Given the description of an element on the screen output the (x, y) to click on. 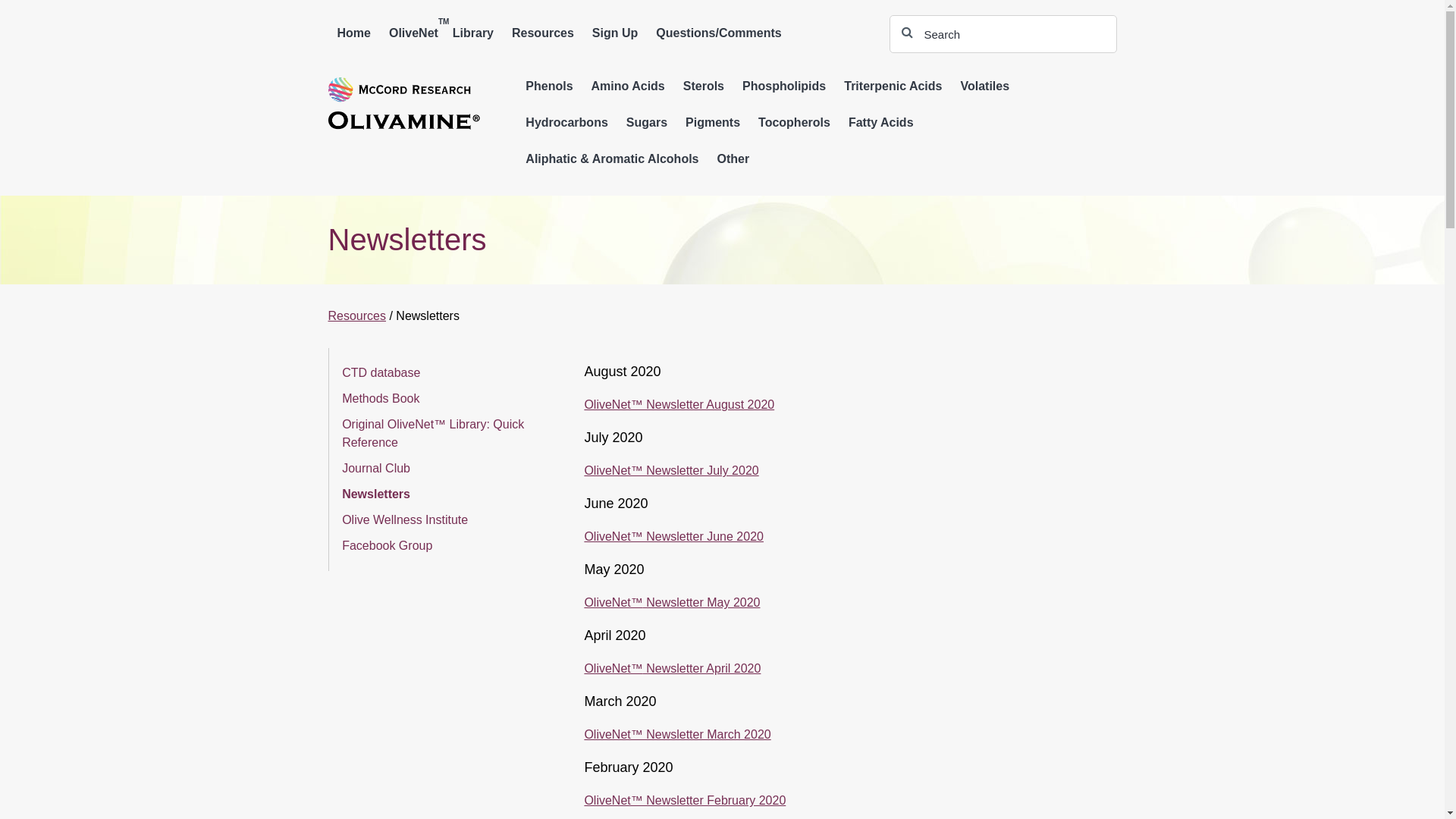
Sign Up Element type: text (614, 33)
Amino Acids Element type: text (628, 86)
Tocopherols Element type: text (794, 122)
Volatiles Element type: text (984, 86)
Sugars Element type: text (646, 122)
Questions/Comments Element type: text (718, 33)
Home Element type: text (353, 33)
Resources Element type: text (542, 33)
 Newsletter May 2020 Element type: text (701, 602)
Pigments Element type: text (712, 122)
Phospholipids Element type: text (783, 86)
Olive Wellness Institute Element type: text (404, 519)
Triterpenic Acids Element type: text (892, 86)
Aliphatic & Aromatic Alcohols Element type: text (611, 159)
Resources Element type: text (356, 315)
Journal Club Element type: text (376, 467)
Sterols Element type: text (703, 86)
Hydrocarbons Element type: text (566, 122)
Facebook Group Element type: text (387, 545)
 Newsletter April 2020 Element type: text (702, 668)
Other Element type: text (733, 159)
Fatty Acids Element type: text (880, 122)
Newsletters Element type: text (376, 493)
OliveNetTM Library Element type: text (440, 33)
Methods Book Element type: text (380, 398)
CTD database Element type: text (381, 372)
Phenols Element type: text (548, 86)
